Given the description of an element on the screen output the (x, y) to click on. 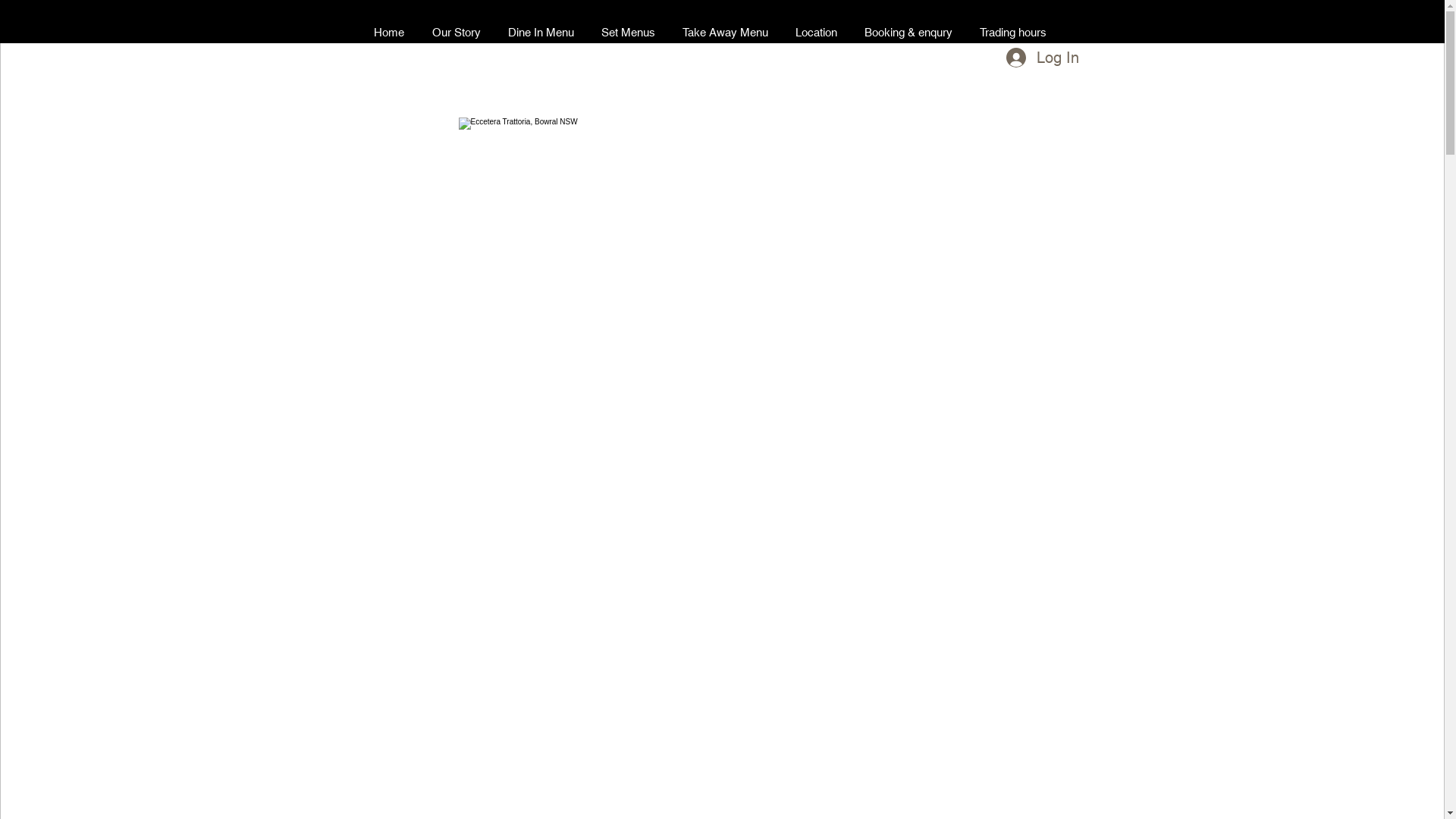
Our Story Element type: text (456, 32)
Dine In Menu Element type: text (540, 32)
Home Element type: text (388, 32)
Take Away Menu Element type: text (724, 32)
Set Menus Element type: text (627, 32)
Booking & enqury Element type: text (908, 32)
Location Element type: text (815, 32)
eccetera_logo.png Element type: hover (721, 251)
Trading hours Element type: text (1013, 32)
Log In Element type: text (1039, 57)
